Given the description of an element on the screen output the (x, y) to click on. 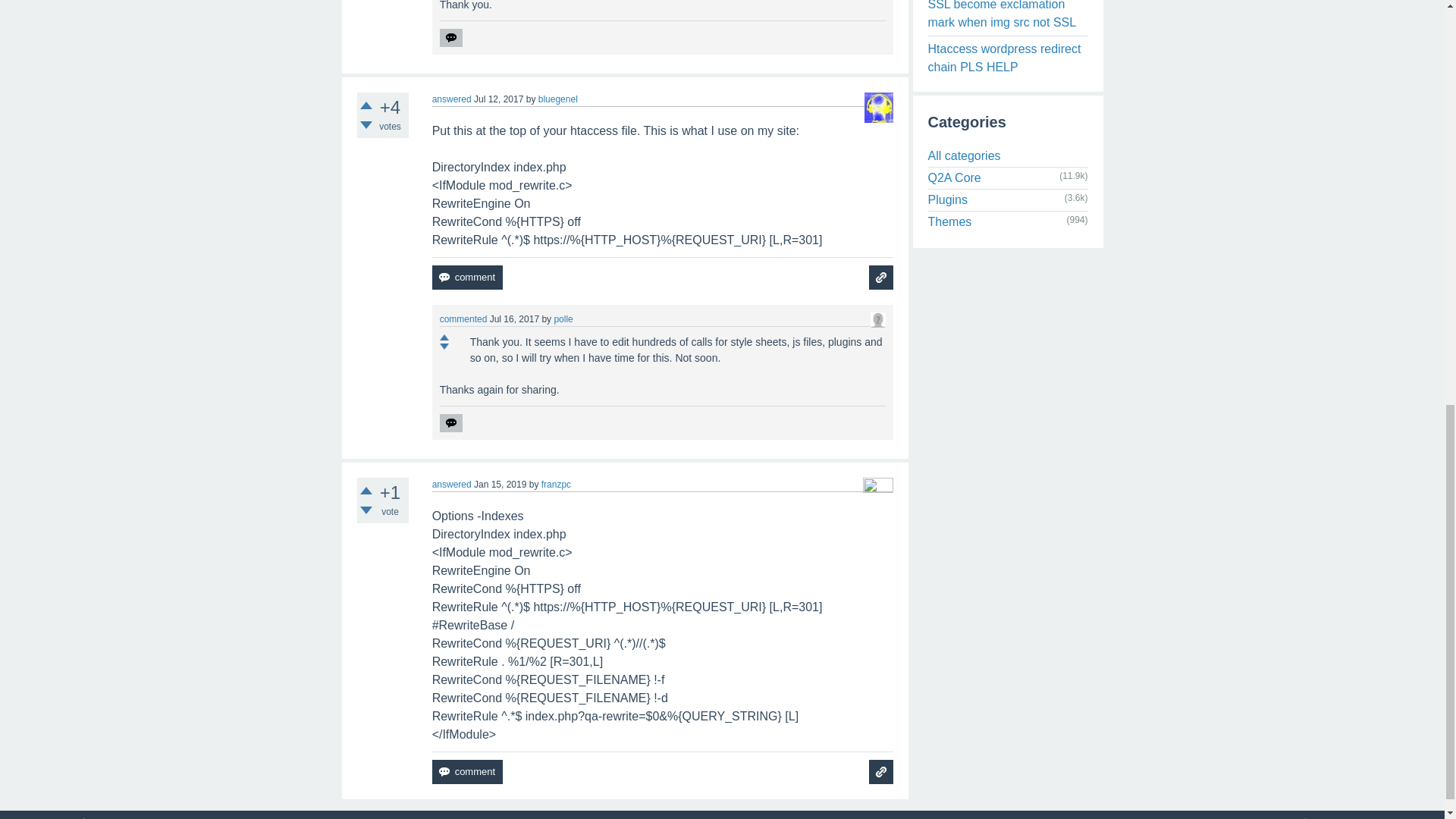
Reply to this comment (451, 37)
ask related question (881, 277)
Click to vote up (365, 104)
comment (467, 277)
Ask a new question relating to this answer (881, 277)
Click to vote down (365, 124)
reply (451, 37)
reply (451, 423)
